Given the description of an element on the screen output the (x, y) to click on. 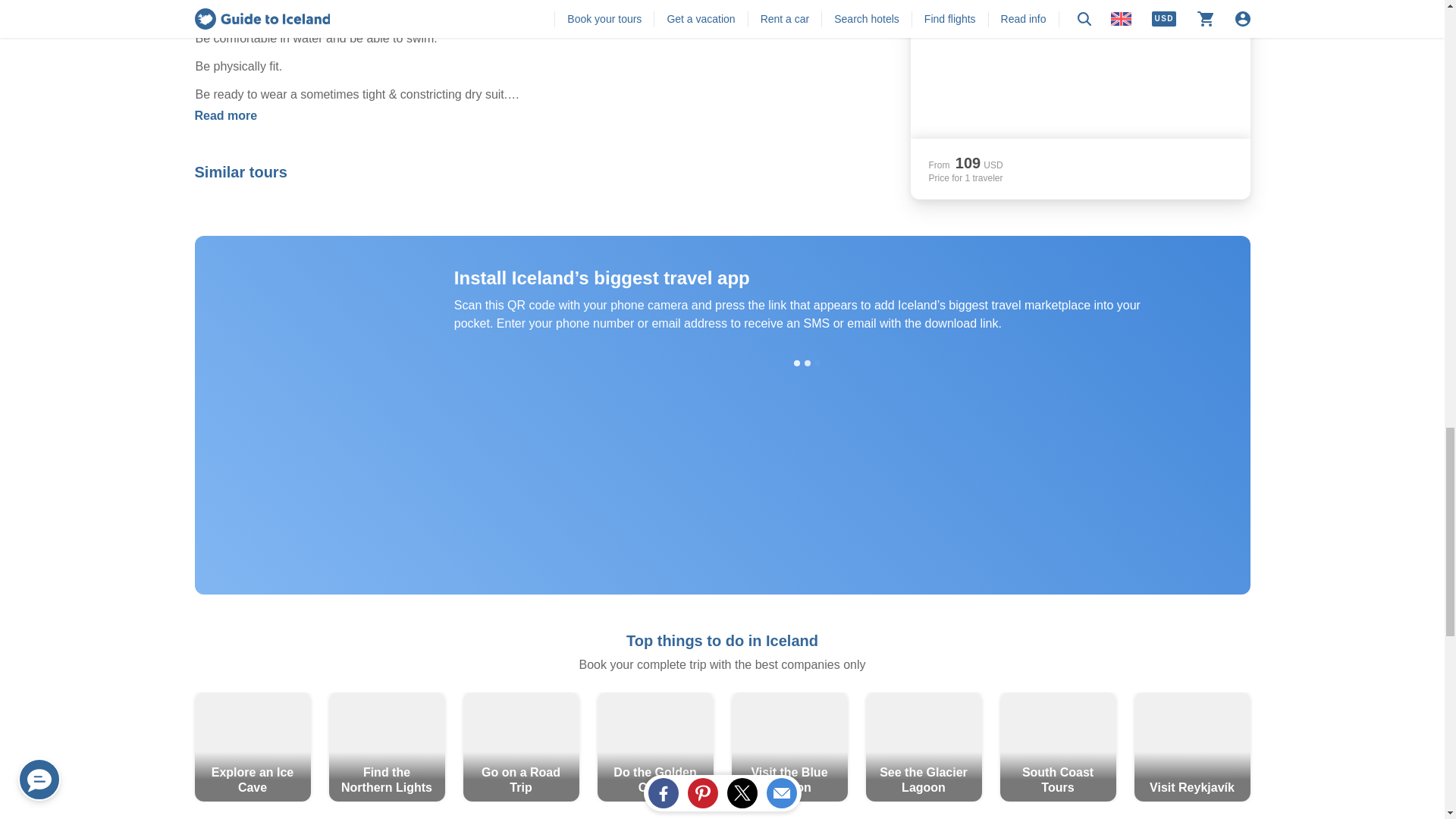
Find the Northern Lights (387, 746)
Explore an Ice Cave (251, 746)
See the Glacier Lagoon (924, 746)
South Coast Tours (1057, 746)
Visit the Blue Lagoon (789, 746)
Do the Golden Circle (655, 746)
See the Glacier Lagoon (924, 746)
Explore an Ice Cave (251, 746)
Visit the Blue Lagoon (789, 746)
Do the Golden Circle (655, 746)
